Given the description of an element on the screen output the (x, y) to click on. 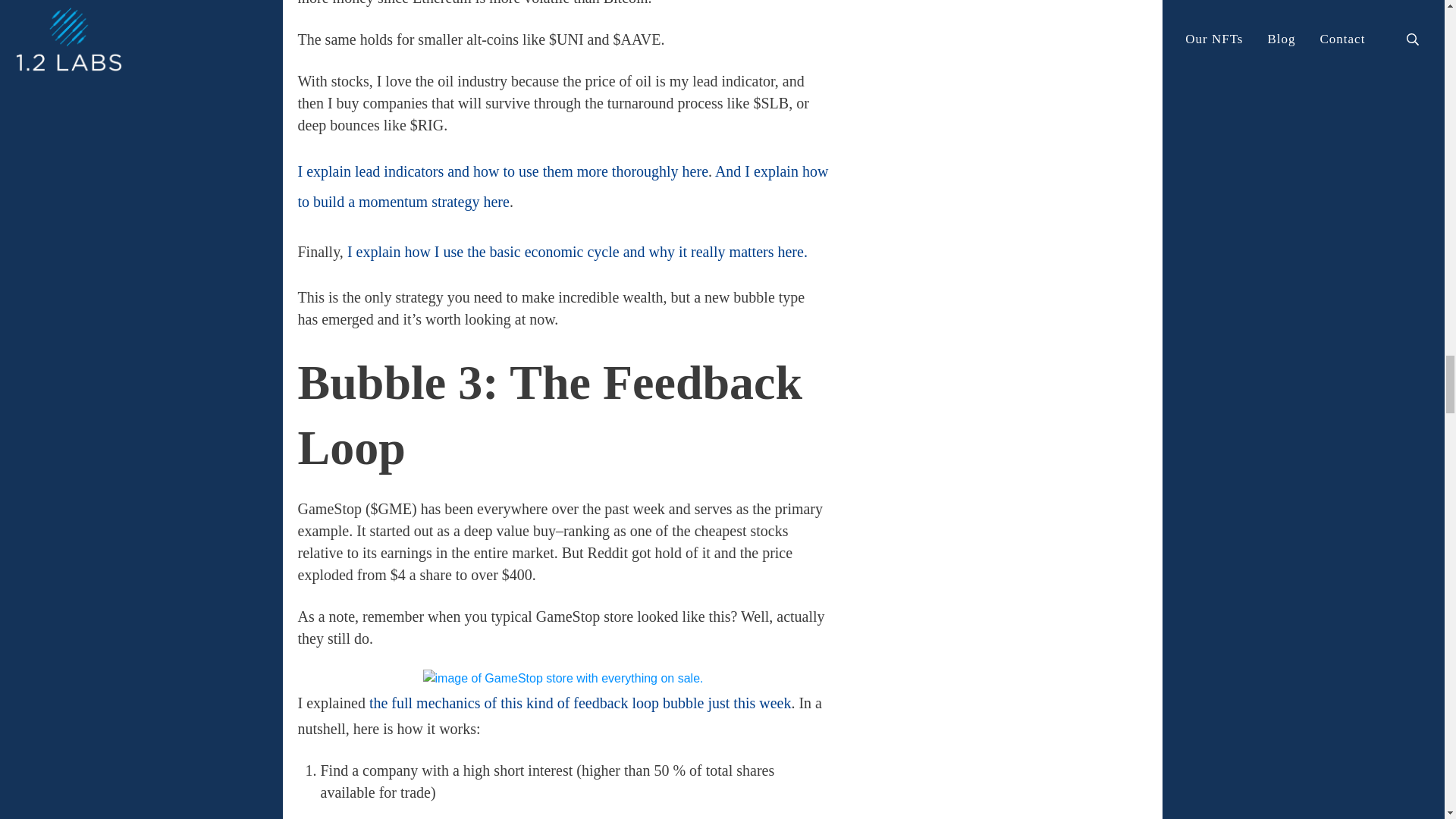
image of GameStop store with everything on sale. (563, 678)
